Given the description of an element on the screen output the (x, y) to click on. 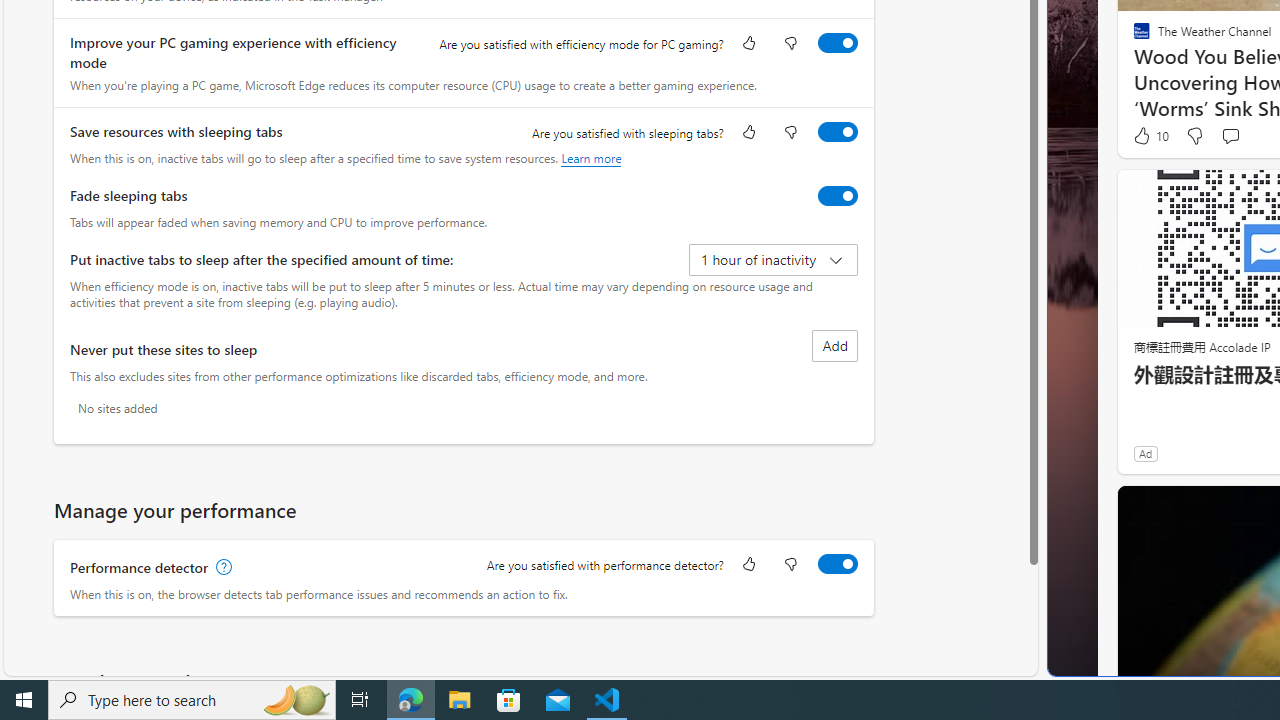
Performance detector (837, 563)
